Given the description of an element on the screen output the (x, y) to click on. 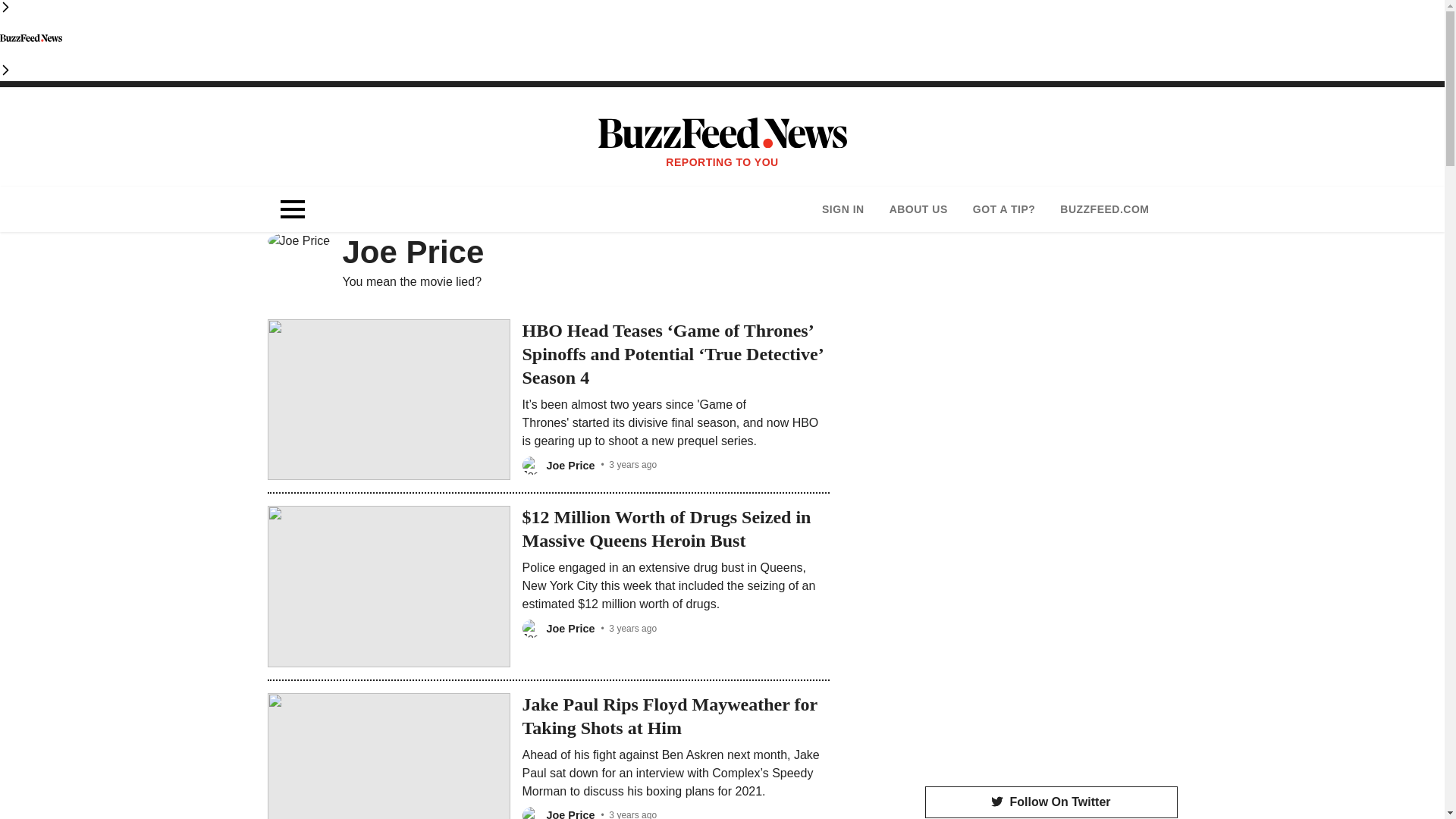
ABOUT US (917, 209)
Jake Paul Rips Floyd Mayweather for Taking Shots at Him (671, 716)
SIGN IN (842, 209)
BUZZFEED.COM (1103, 209)
GOT A TIP? (1003, 209)
BuzzFeed News (31, 37)
